Given the description of an element on the screen output the (x, y) to click on. 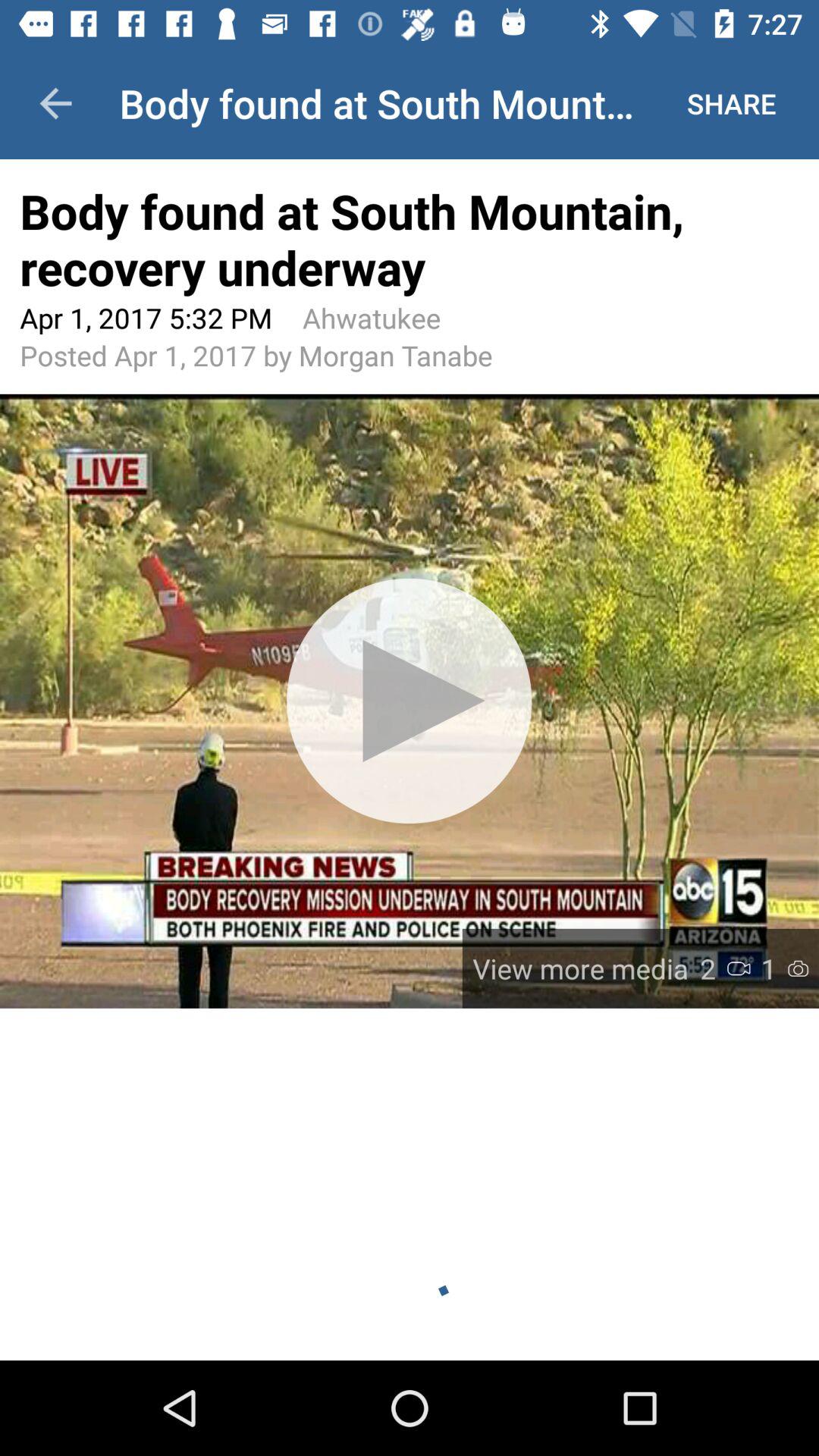
tap the share at the top right corner (731, 103)
